Given the description of an element on the screen output the (x, y) to click on. 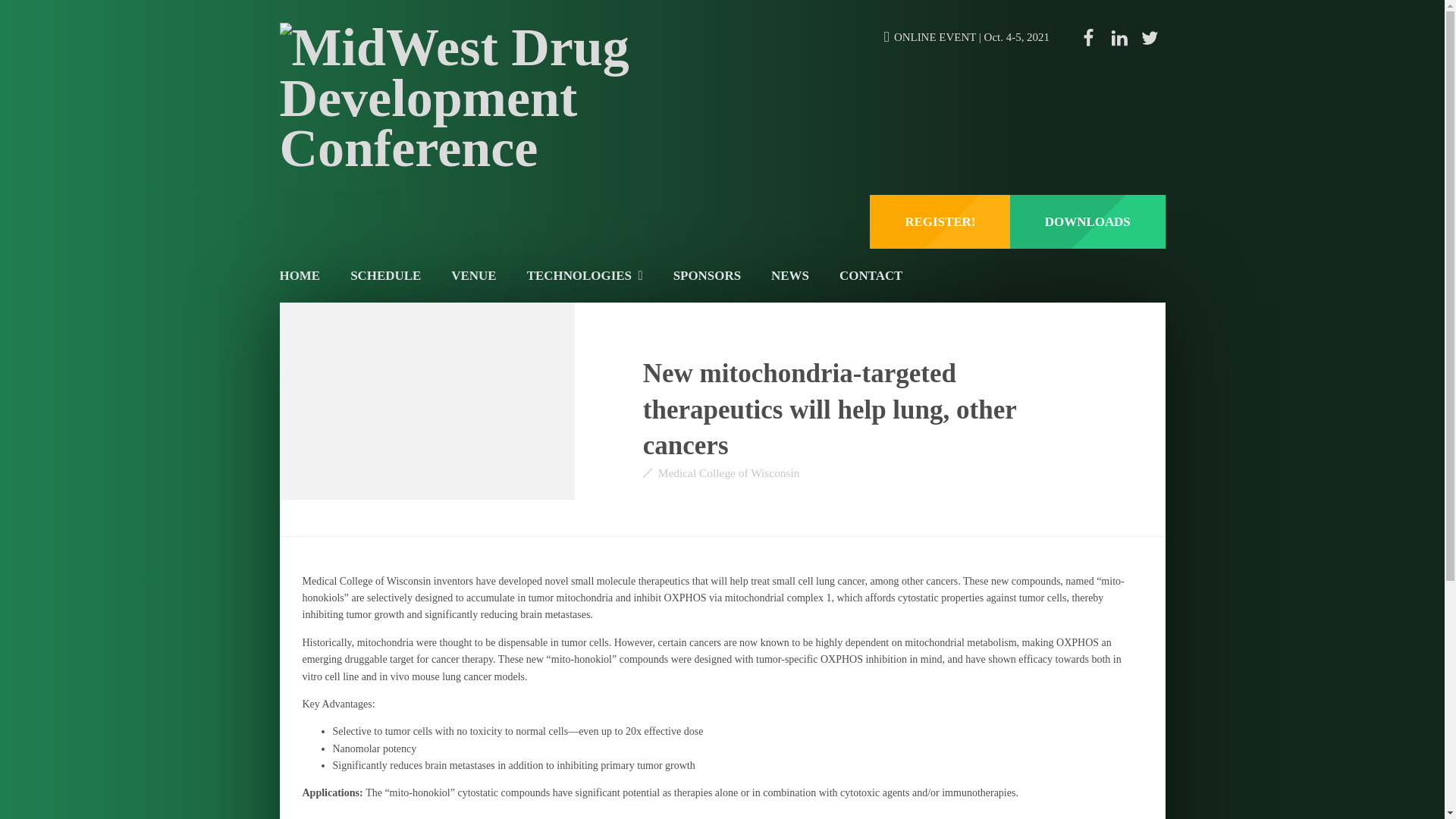
SCHEDULE (385, 275)
Twitter (1149, 37)
REGISTER! (939, 221)
Facebook (1088, 37)
TECHNOLOGIES (585, 275)
CONTACT (871, 275)
LinkedIn (1118, 37)
SPONSORS (706, 275)
